Given the description of an element on the screen output the (x, y) to click on. 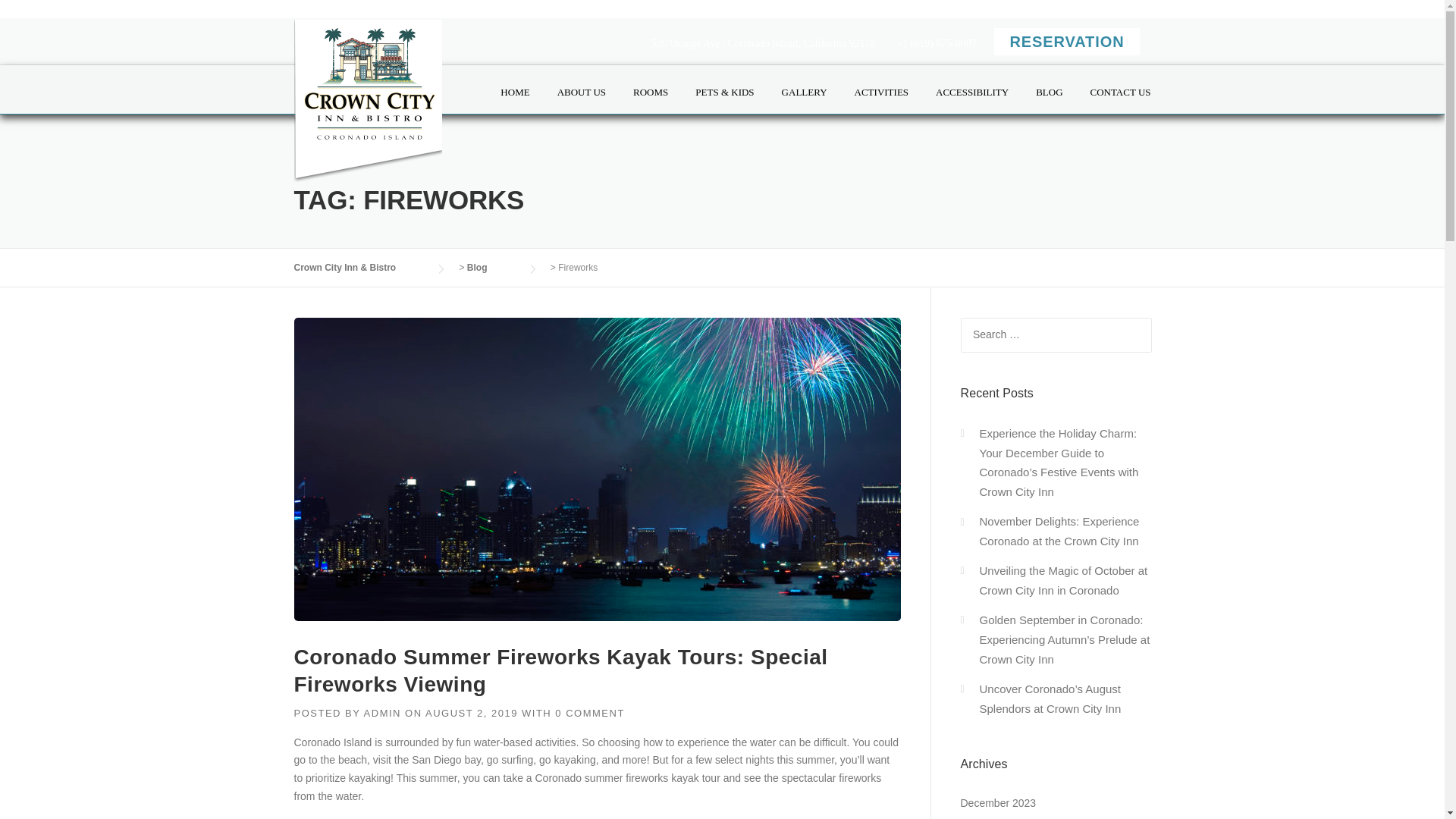
ACTIVITIES (882, 105)
December 2023 (997, 802)
Blog (492, 267)
Go to Blog. (492, 267)
Search (40, 17)
HOME (514, 105)
CONTACT US (1114, 105)
0 COMMENT (589, 713)
BLOG (1048, 105)
AUGUST 2, 2019 (471, 713)
ROOMS (650, 105)
ADMIN (382, 713)
GALLERY (804, 105)
November Delights: Experience Coronado at the Crown City Inn (1059, 531)
